Given the description of an element on the screen output the (x, y) to click on. 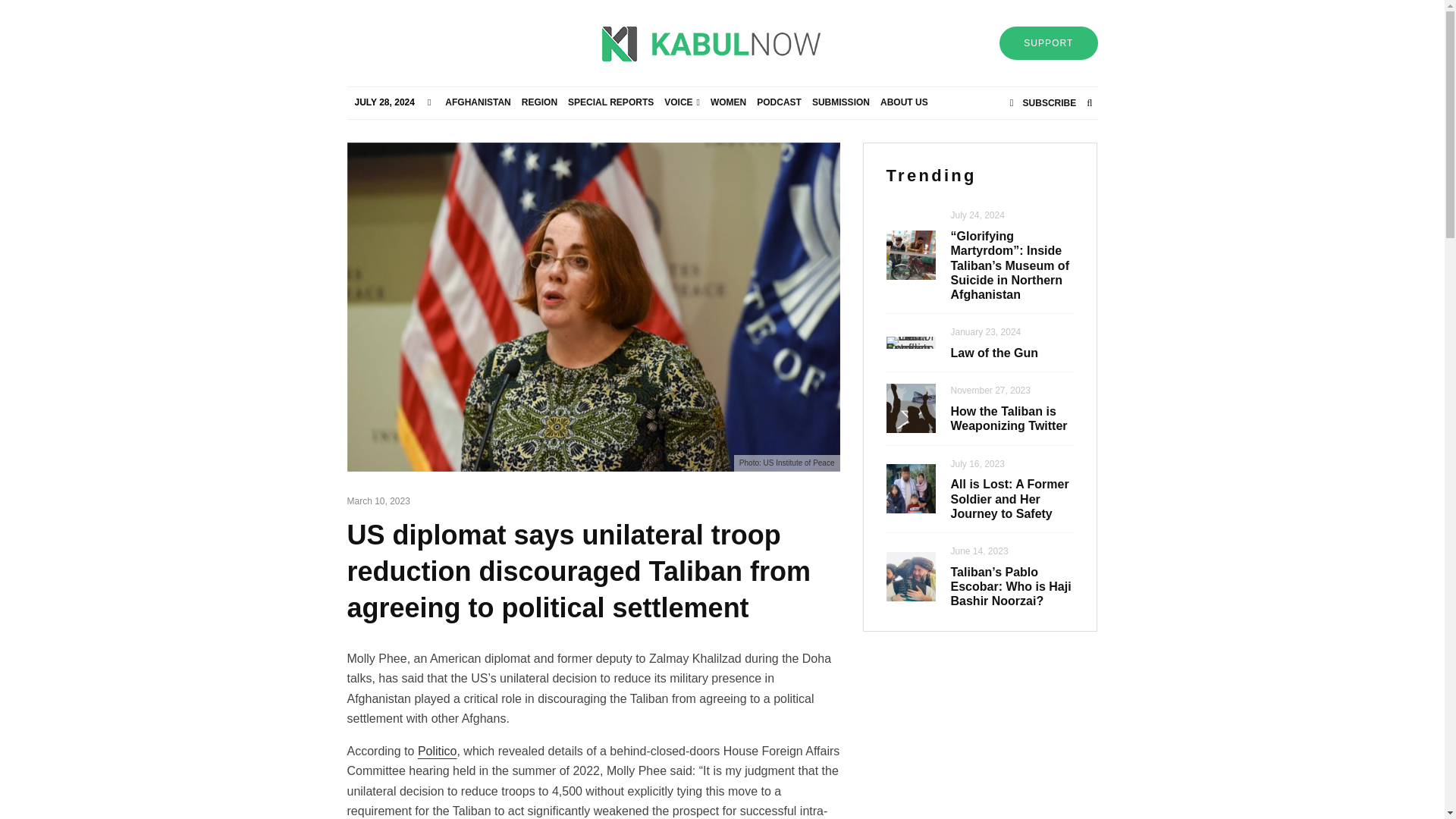
AFGHANISTAN (477, 102)
SPECIAL REPORTS (610, 102)
SUPPORT (1047, 42)
REGION (539, 102)
